Given the description of an element on the screen output the (x, y) to click on. 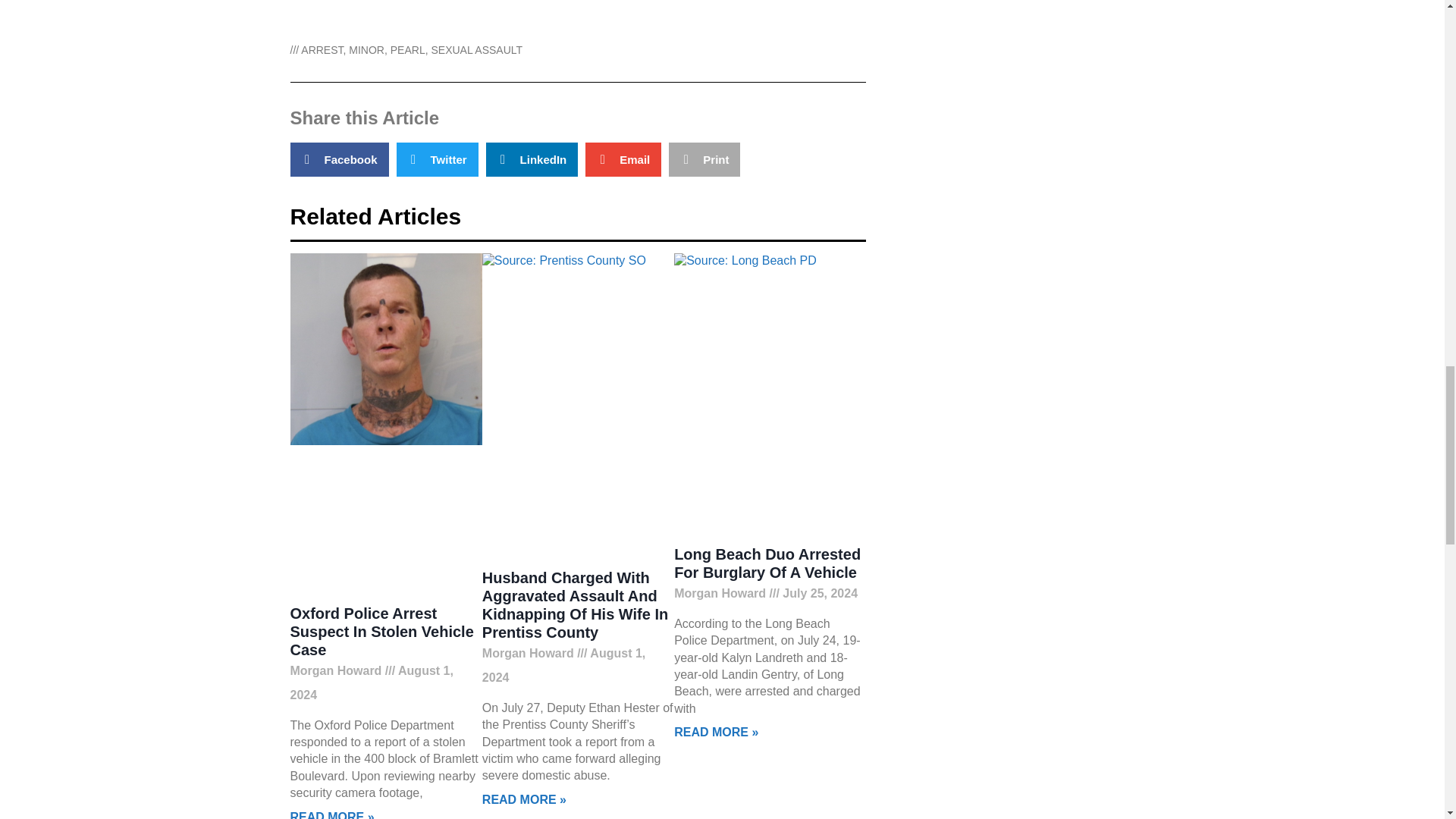
Long Beach Duo Arrested For Burglary Of A Vehicle (767, 563)
SEXUAL ASSAULT (476, 50)
ARREST (321, 50)
PEARL (407, 50)
MINOR (366, 50)
Oxford Police Arrest Suspect In Stolen Vehicle Case (381, 631)
